Given the description of an element on the screen output the (x, y) to click on. 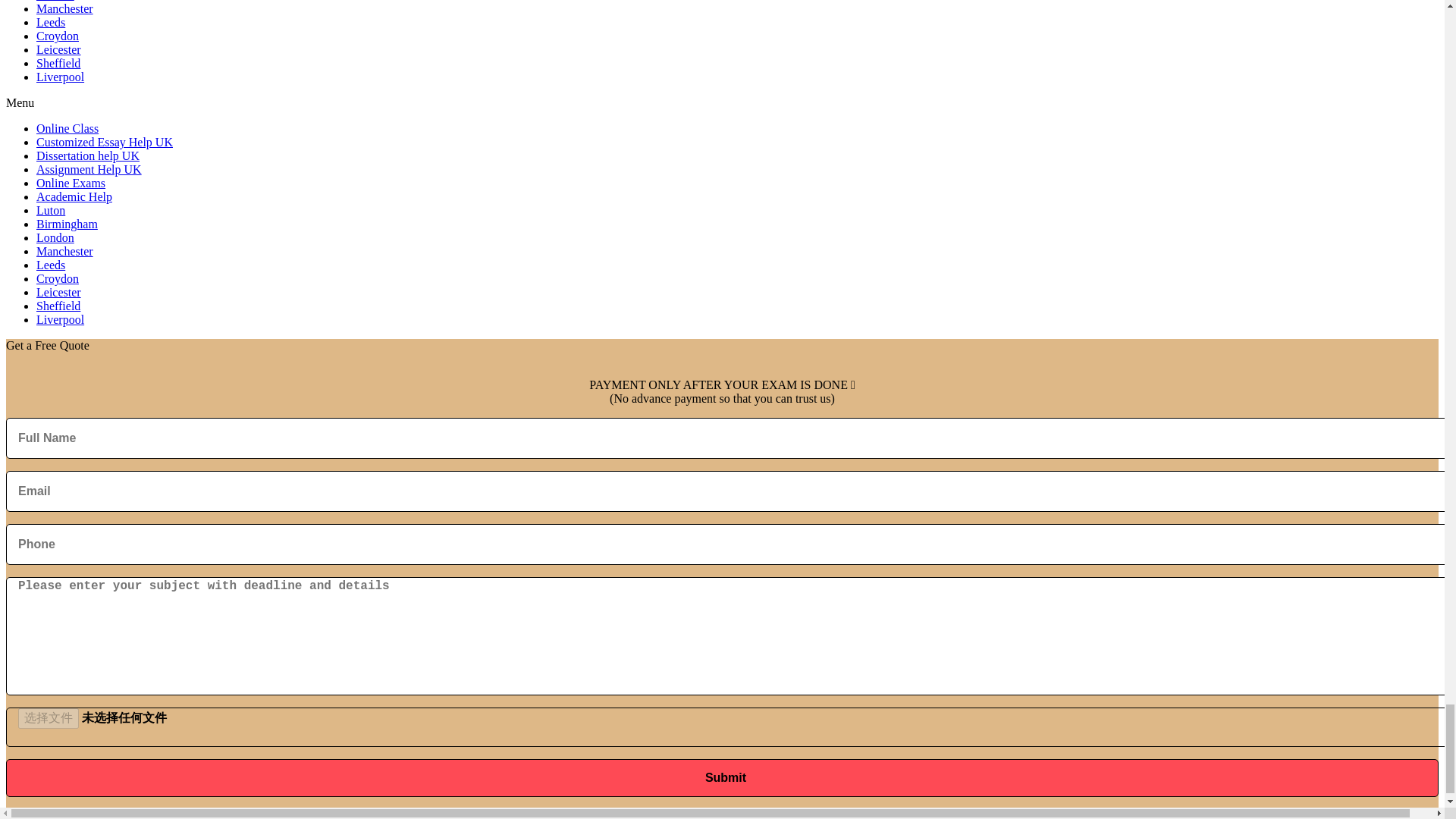
Submit (721, 777)
